Given the description of an element on the screen output the (x, y) to click on. 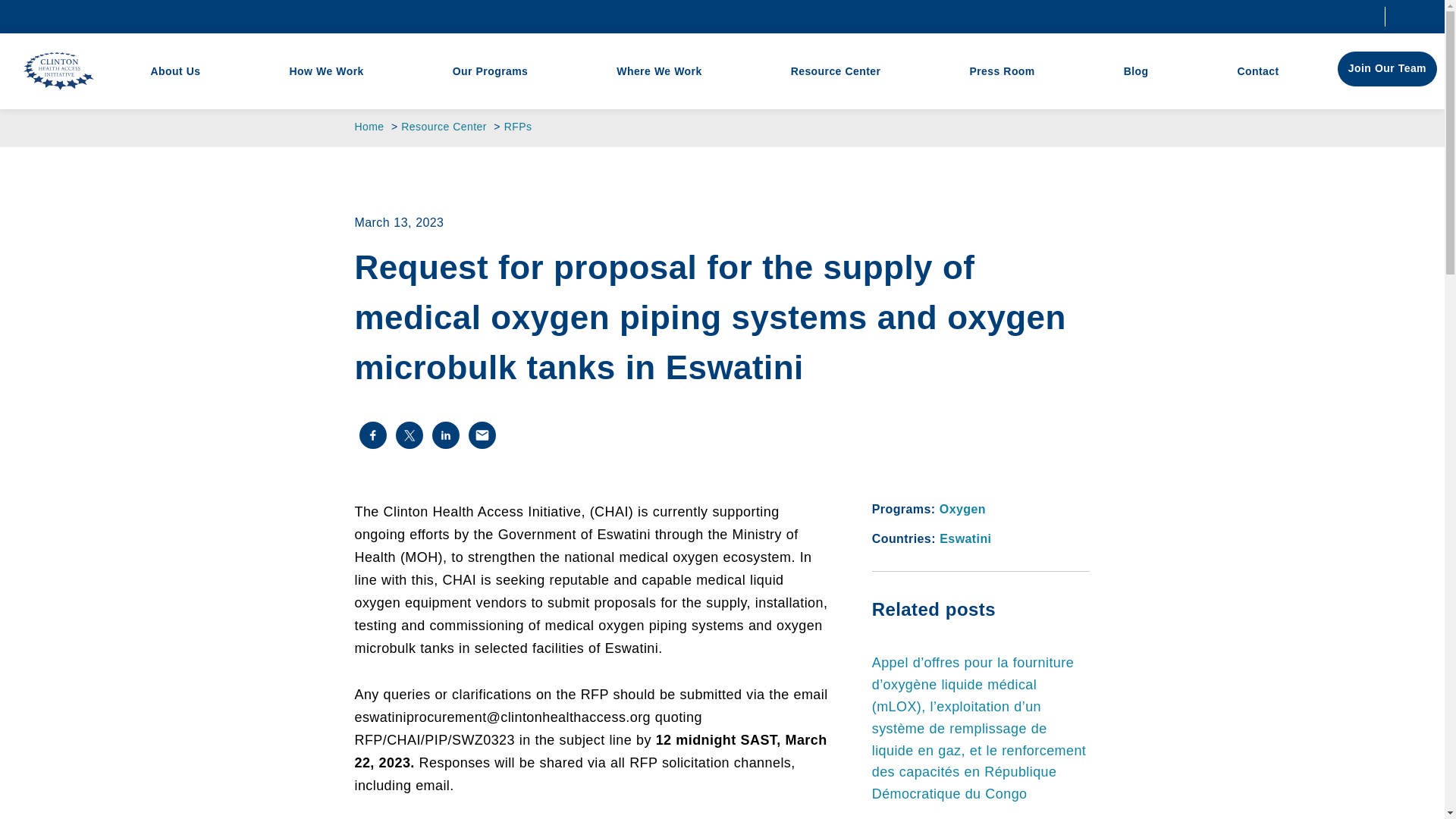
About Us (175, 70)
How We Work (326, 70)
Our Programs (490, 70)
